Given the description of an element on the screen output the (x, y) to click on. 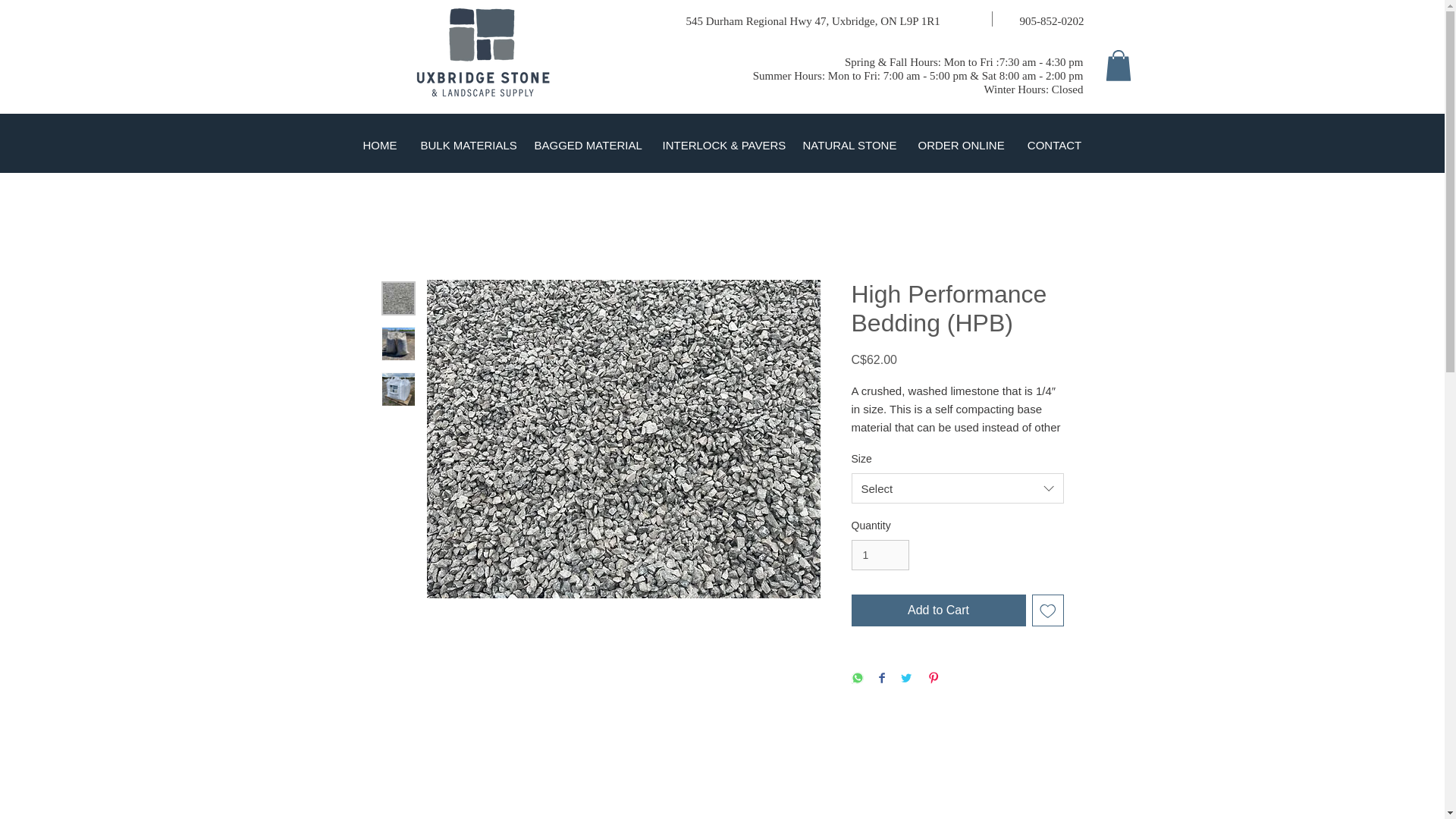
HOME (379, 145)
CONTACT (1053, 145)
545 Durham Regional Hwy 47, Uxbridge, ON L9P 1R1 (812, 21)
BULK MATERIALS (465, 145)
NATURAL STONE (849, 145)
Select (956, 488)
BAGGED MATERIAL (586, 145)
ORDER ONLINE (960, 145)
905-852-0202 (1051, 21)
Add to Cart (937, 610)
1 (879, 554)
